Given the description of an element on the screen output the (x, y) to click on. 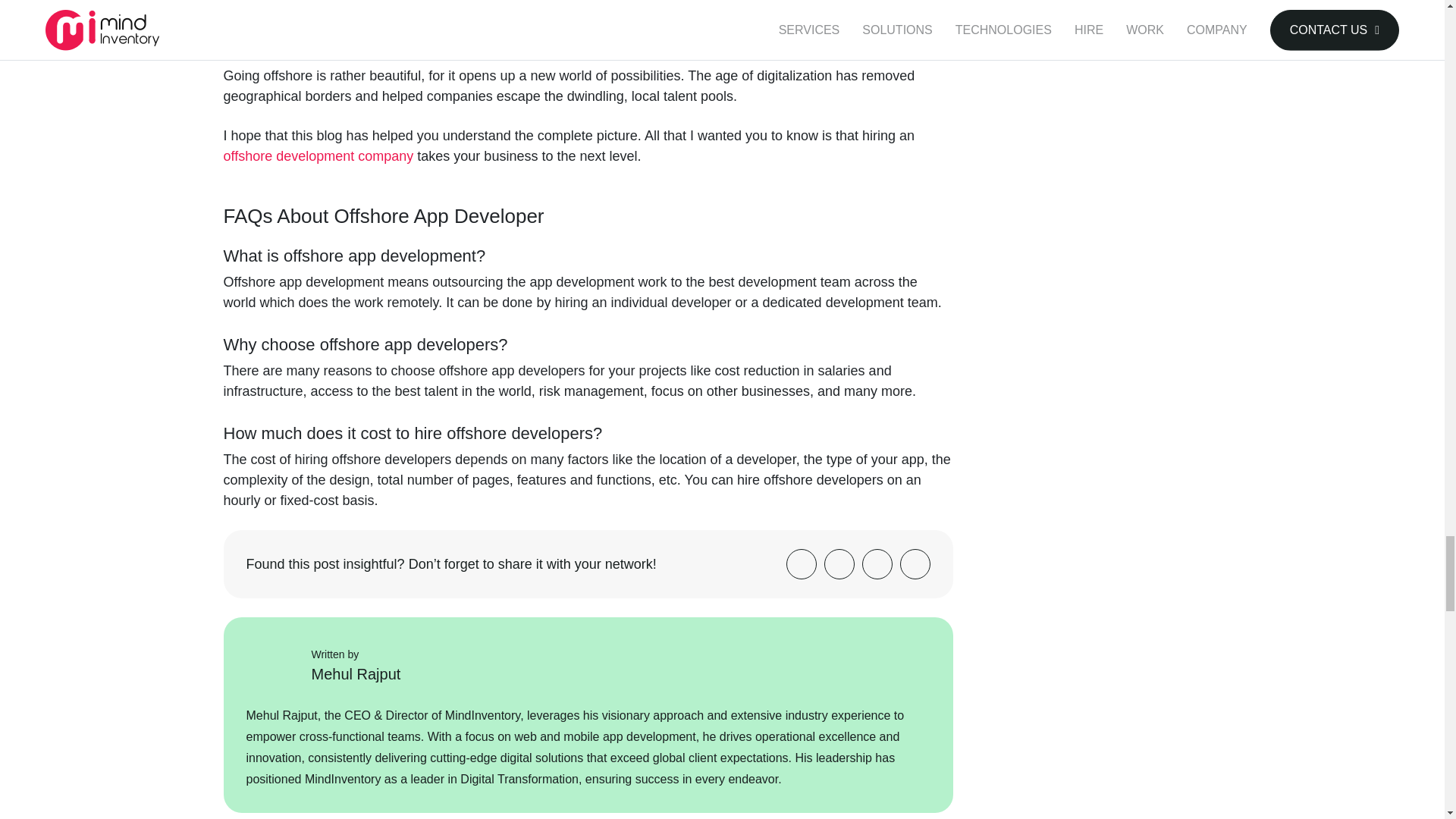
Share on Twitter (838, 563)
Share on Linkedin (876, 563)
Share on Pinterest (914, 563)
Share on Facebook (800, 563)
